Given the description of an element on the screen output the (x, y) to click on. 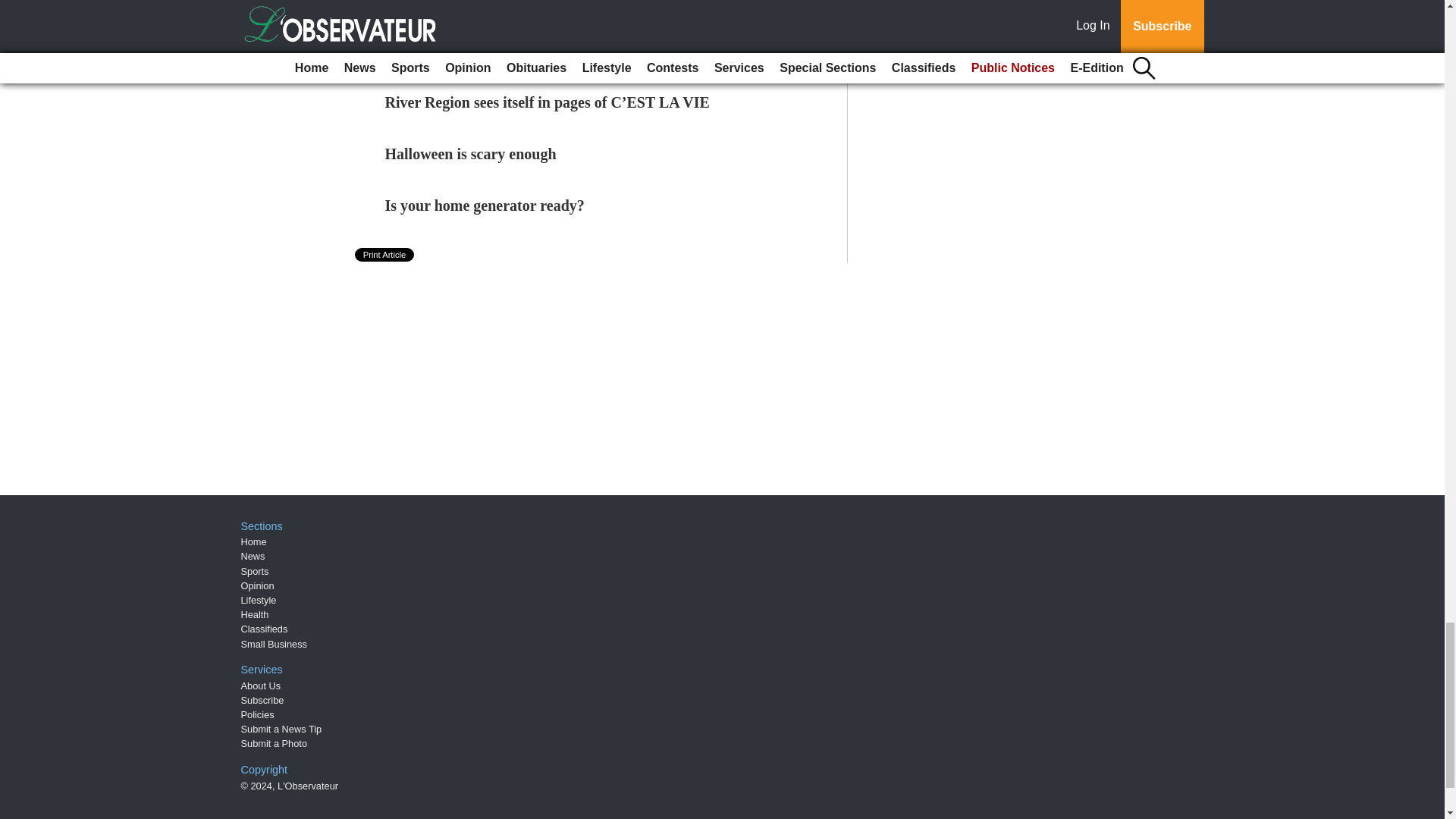
Is your home generator ready? (485, 205)
Print Article (384, 254)
Halloween is scary enough (470, 153)
Is your home generator ready? (485, 205)
Halloween is scary enough (470, 153)
Keller: 59 years with the best wife (495, 50)
Home (253, 541)
Keller: 59 years with the best wife (495, 50)
